Given the description of an element on the screen output the (x, y) to click on. 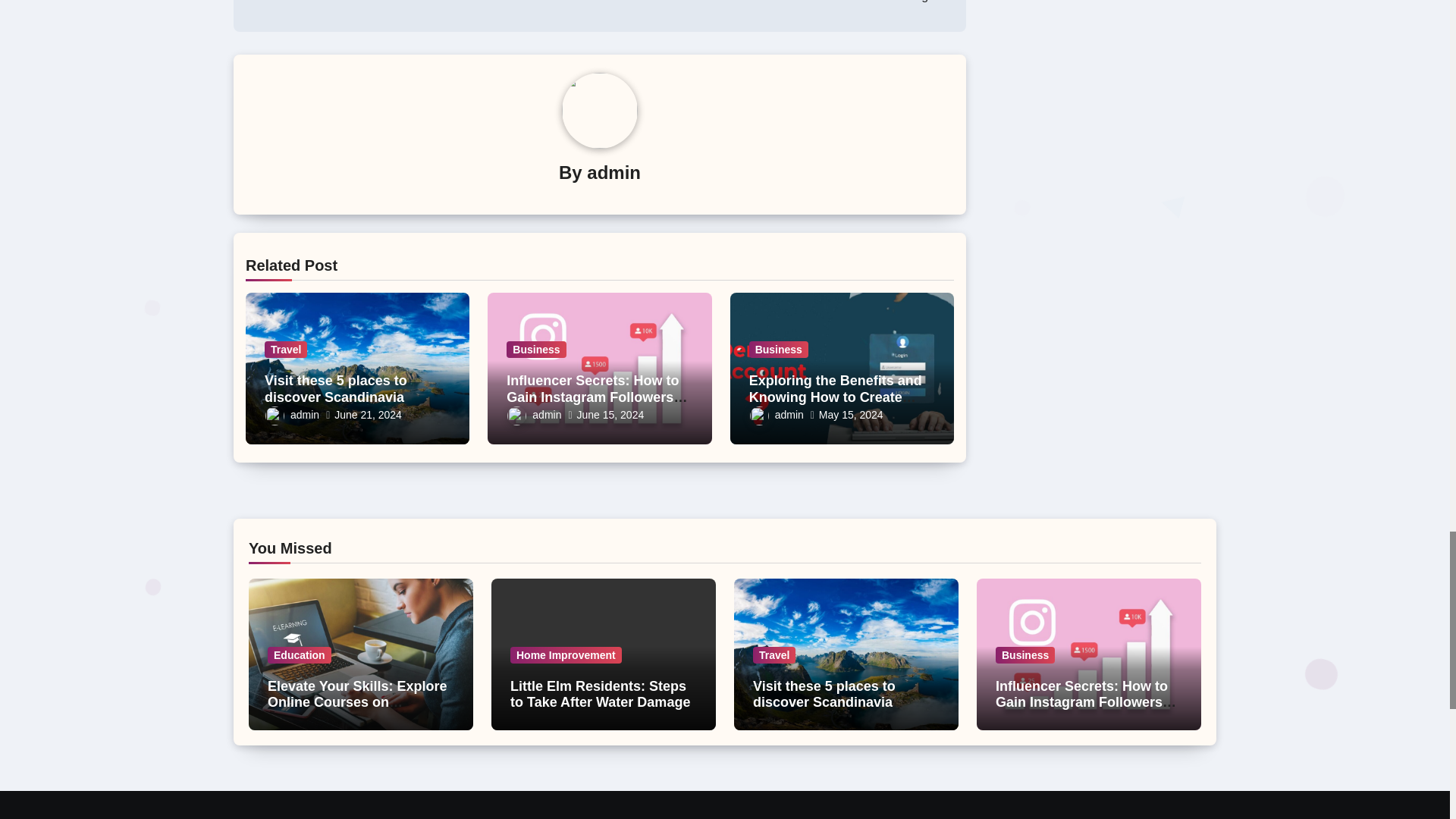
Permalink to: Visit these 5 places to discover Scandinavia (335, 388)
Travel (285, 349)
admin (613, 172)
